Given the description of an element on the screen output the (x, y) to click on. 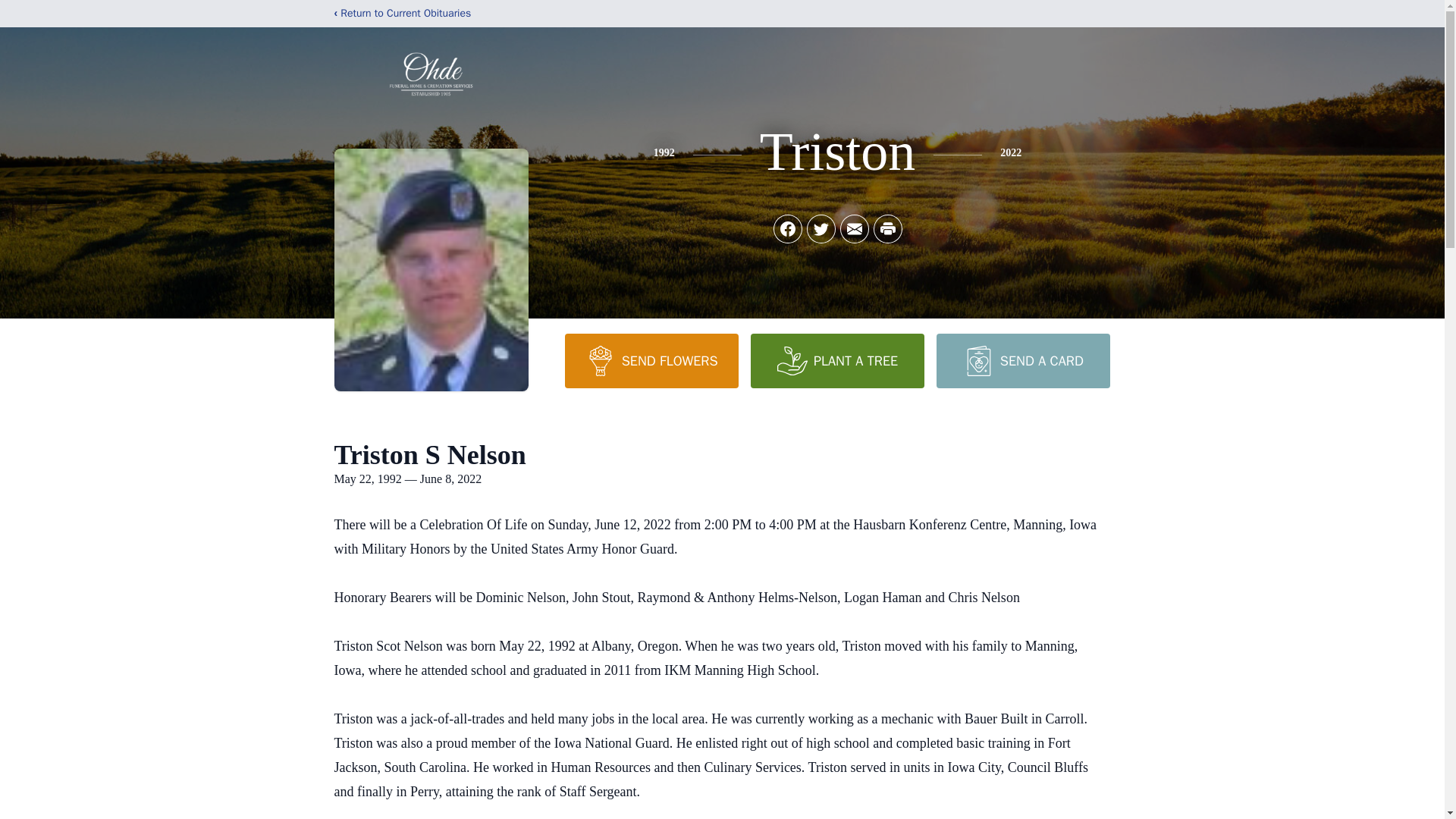
PLANT A TREE (837, 360)
SEND A CARD (1022, 360)
SEND FLOWERS (651, 360)
